Given the description of an element on the screen output the (x, y) to click on. 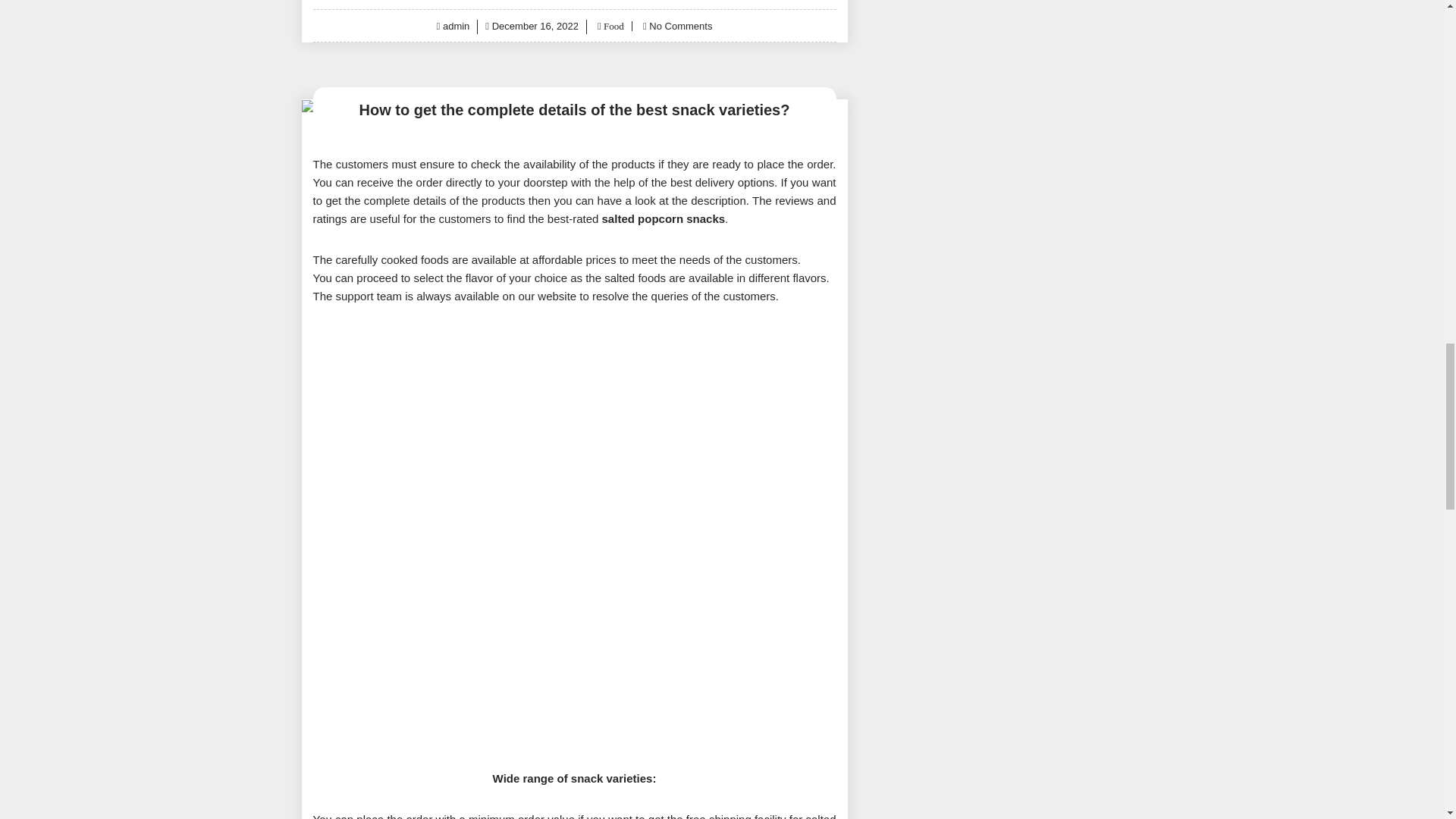
December 16, 2022 (535, 25)
Food (612, 25)
No Comments (680, 25)
How to get the complete details of the best snack varieties? (574, 109)
admin (455, 25)
salted popcorn snacks (663, 218)
